Given the description of an element on the screen output the (x, y) to click on. 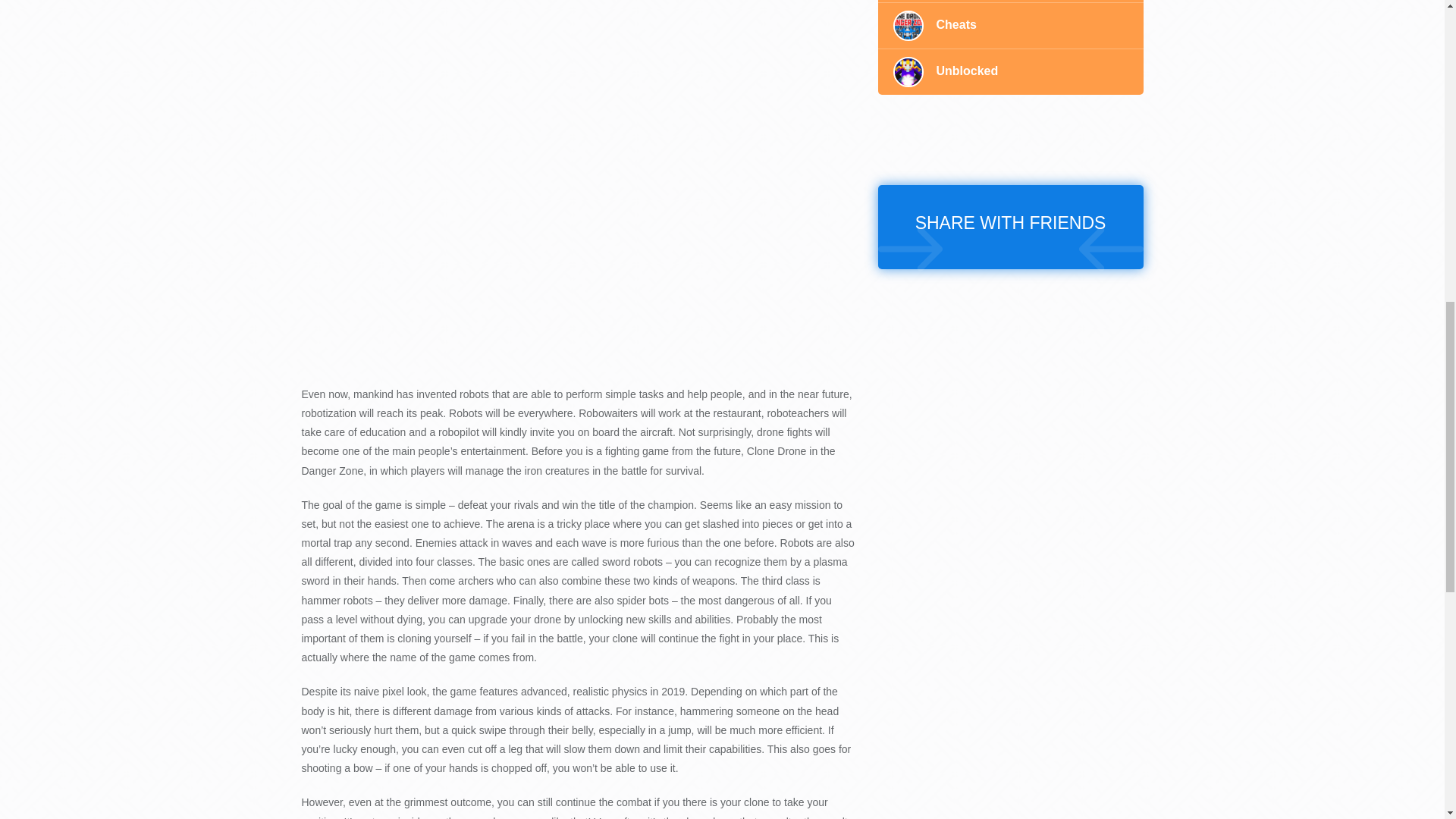
Unblocked (1009, 72)
Chapter 5 (1009, 1)
Cheats (1009, 26)
